Given the description of an element on the screen output the (x, y) to click on. 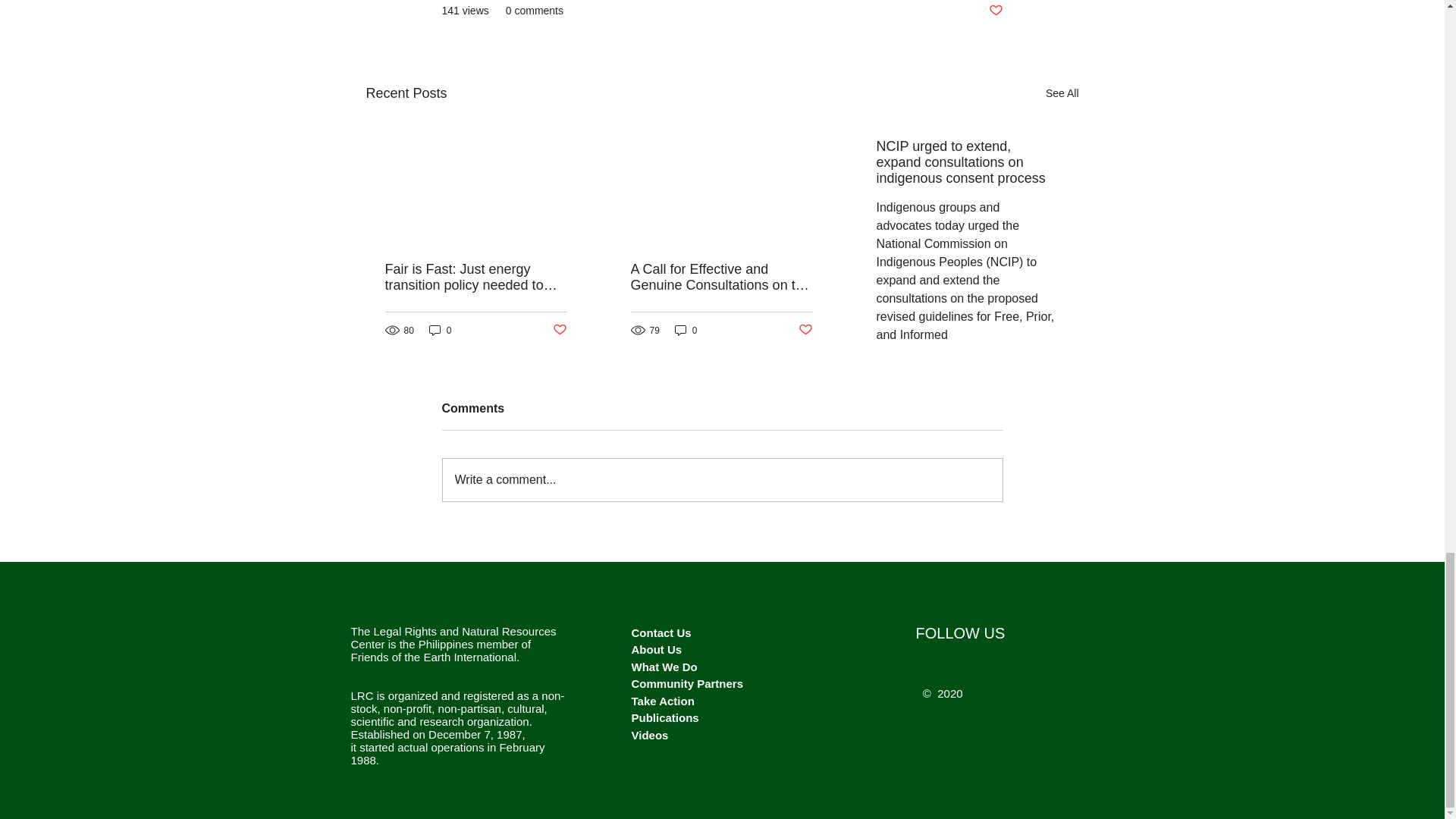
0 (440, 329)
See All (1061, 93)
Post not marked as liked (558, 330)
Post not marked as liked (995, 10)
